Given the description of an element on the screen output the (x, y) to click on. 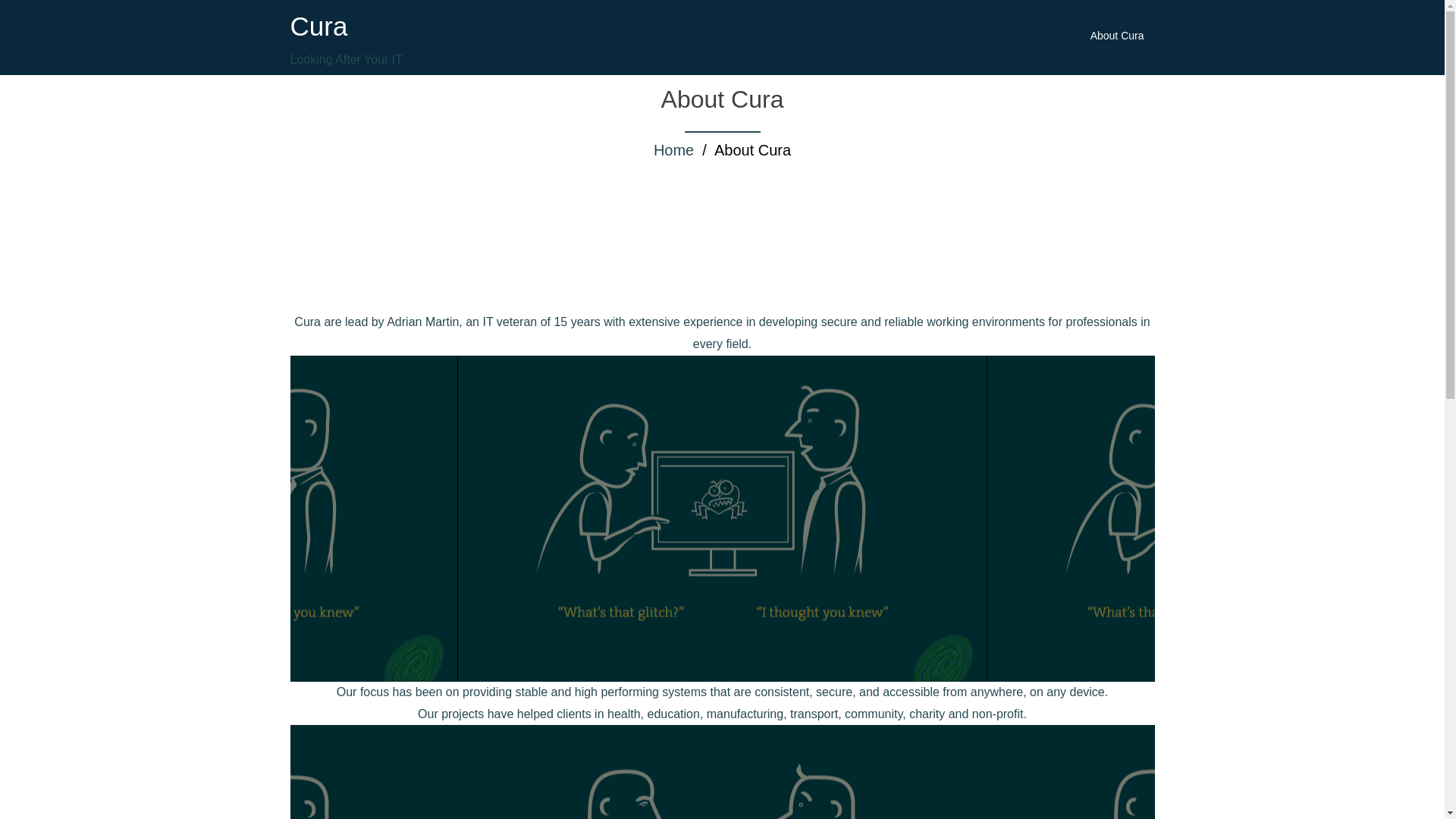
Home Element type: text (673, 149)
Cura Element type: text (318, 25)
About Cura Element type: text (1117, 35)
